Given the description of an element on the screen output the (x, y) to click on. 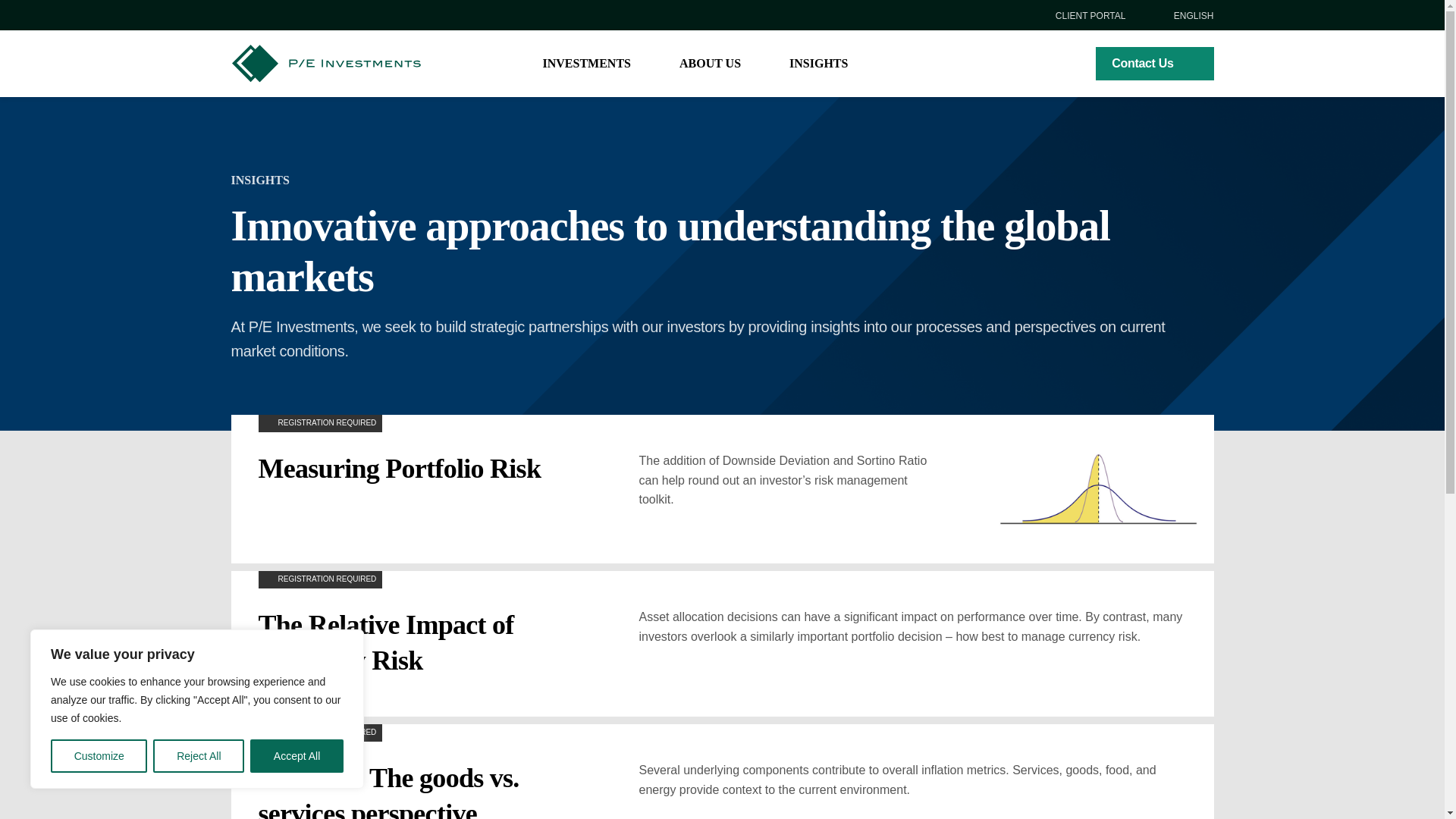
Accept All (296, 756)
CLIENT PORTAL (1080, 16)
ENGLISH (1184, 16)
Reject All (198, 756)
Customize (98, 756)
